Given the description of an element on the screen output the (x, y) to click on. 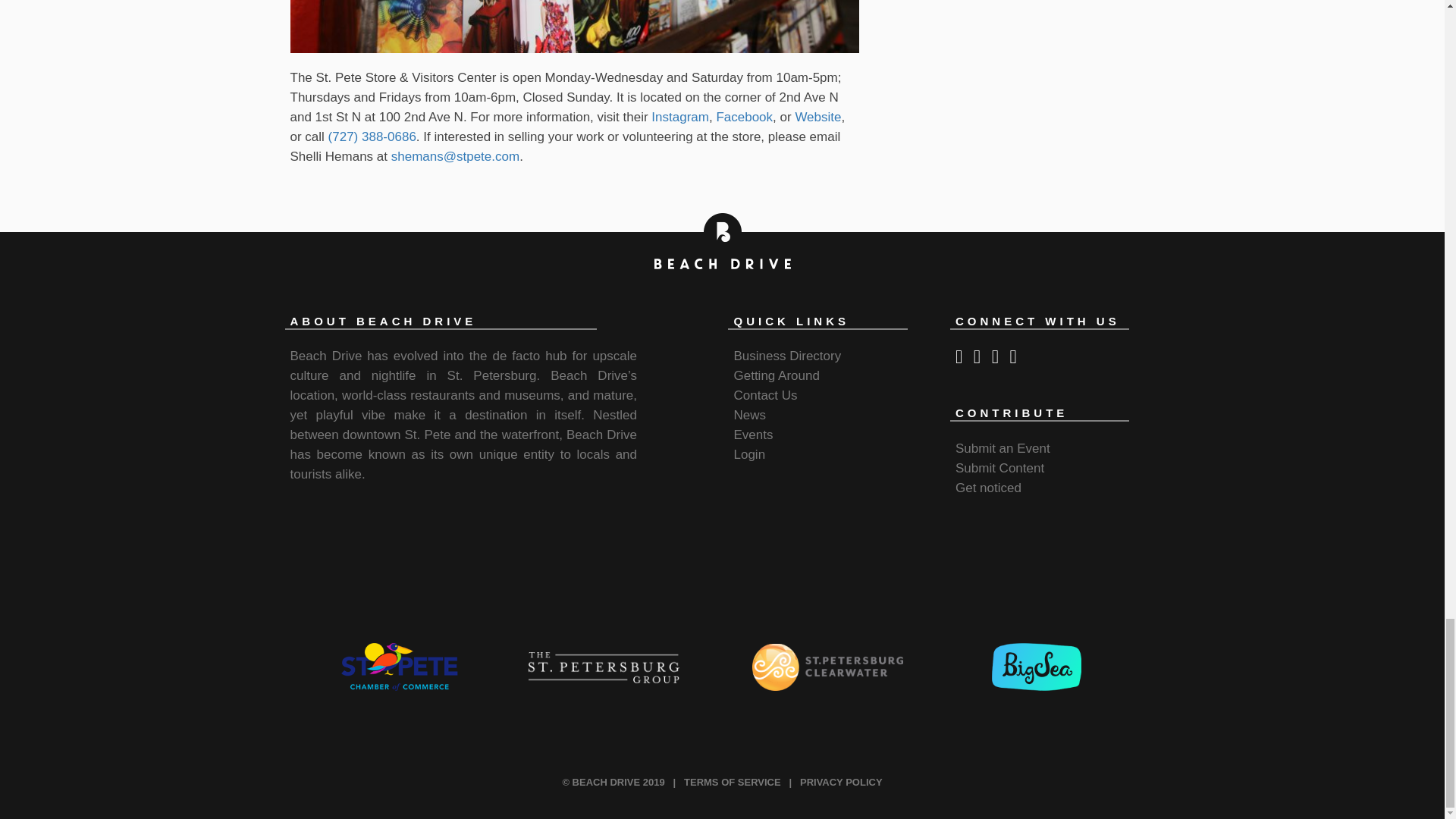
News (749, 414)
Submit an Event (1002, 448)
Get noticed (988, 487)
Instagram (679, 116)
Facebook (743, 116)
Business Directory (787, 355)
Submit Content (999, 468)
Website (817, 116)
PRIVACY POLICY (840, 781)
Contact Us (764, 395)
Login (749, 454)
Getting Around (775, 375)
Events (753, 434)
TERMS OF SERVICE (732, 781)
